Given the description of an element on the screen output the (x, y) to click on. 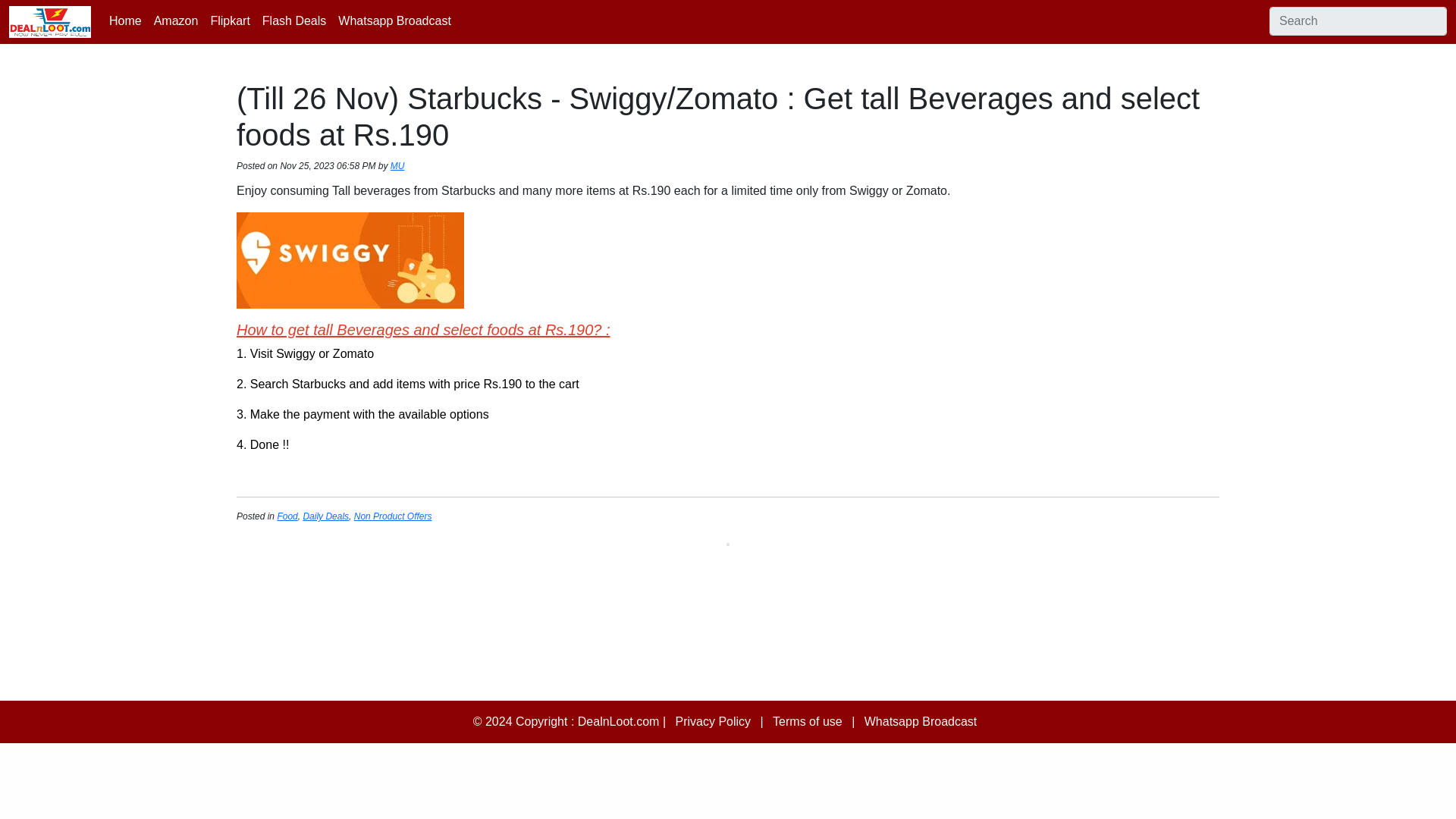
Flipkart (229, 20)
MU (397, 165)
DealnLoot.com (618, 721)
Privacy Policy (713, 721)
Food (286, 516)
Daily Deals (325, 516)
Non Product Offers (392, 516)
Terms of use (808, 721)
Home (125, 20)
Amazon (176, 20)
swiggy (349, 260)
Whatsapp Broadcast (920, 721)
Whatsapp Broadcast (394, 20)
Flash Deals (293, 20)
